Given the description of an element on the screen output the (x, y) to click on. 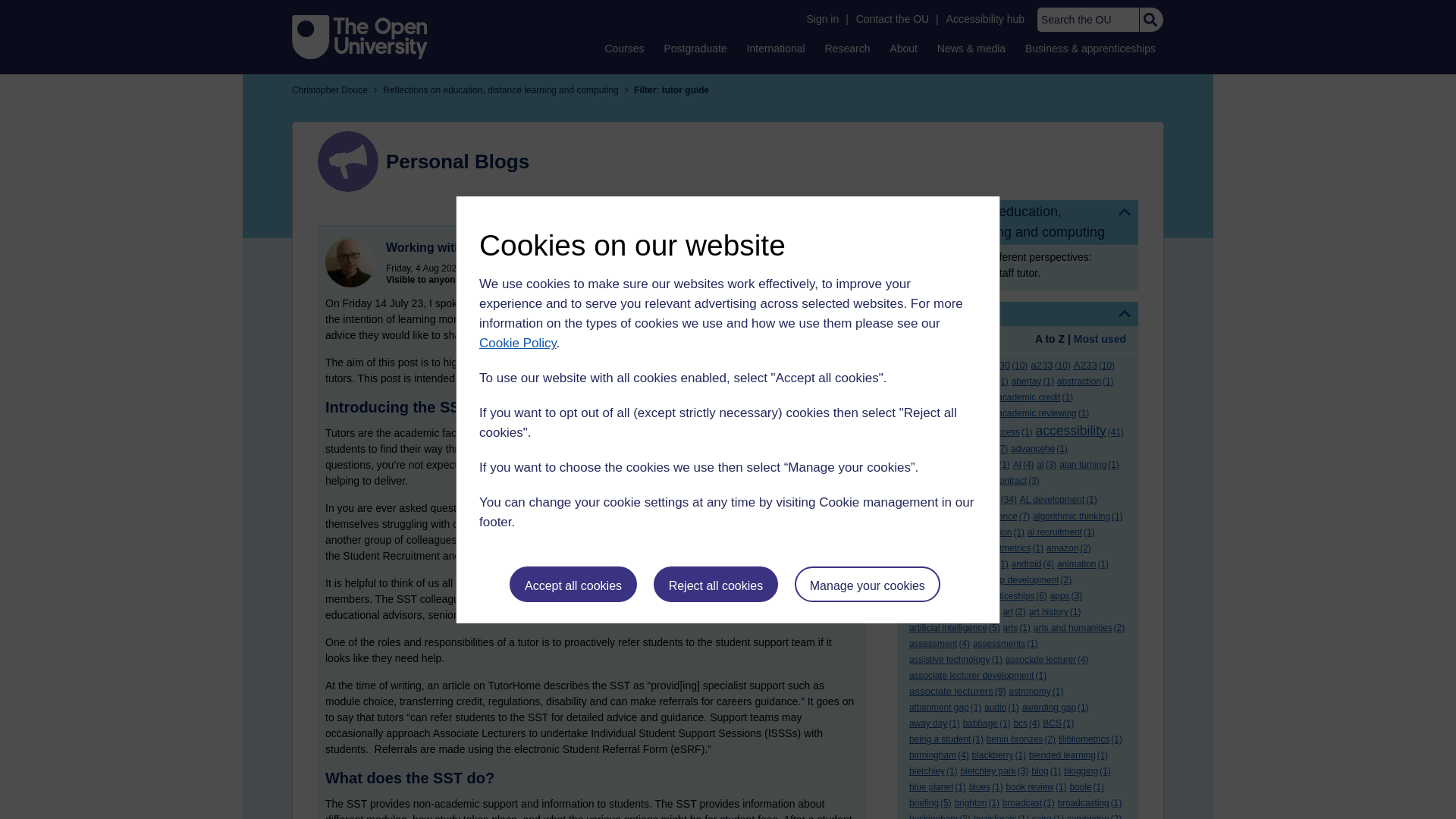
Accessibility hub (985, 19)
Postgraduate (695, 48)
Contact the OU (892, 19)
Christopher Douce (349, 261)
Reflections on education, distance learning and computing (1017, 221)
Reject all cookies (715, 583)
Courses (623, 48)
Tags (1017, 313)
About (903, 48)
